Given the description of an element on the screen output the (x, y) to click on. 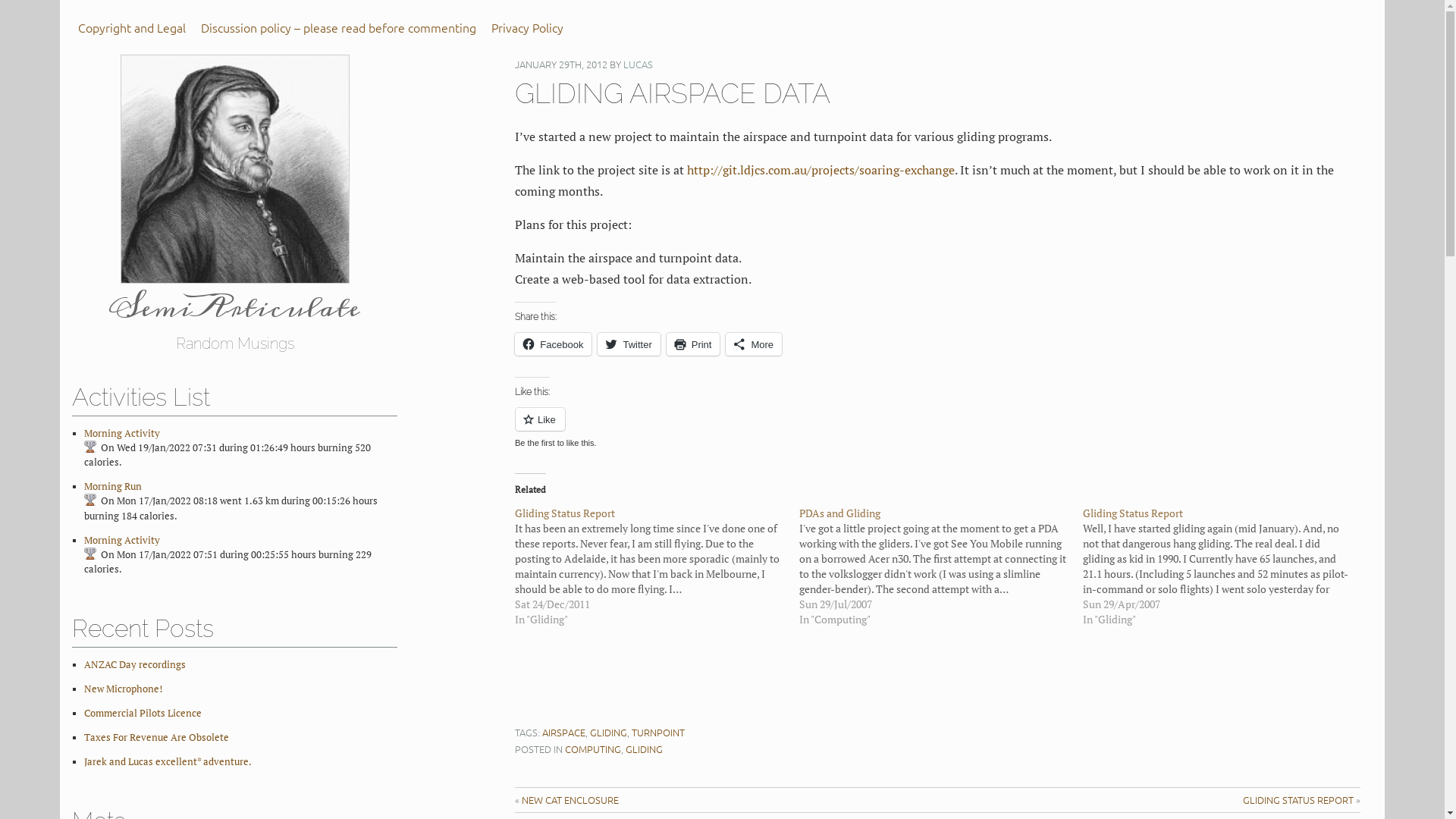
More Element type: text (753, 343)
Facebook Element type: text (552, 343)
COMPUTING Element type: text (592, 748)
TURNPOINT Element type: text (657, 731)
Taxes For Revenue Are Obsolete Element type: text (156, 737)
PDAs and Gliding Element type: text (839, 512)
AIRSPACE Element type: text (563, 731)
Advertisement Element type: hover (790, 685)
Morning Activity Element type: text (122, 432)
PDAs and Gliding Element type: hover (940, 566)
Privacy Policy Element type: text (527, 27)
Gliding Status Report Element type: hover (656, 566)
http://git.ldjcs.com.au/projects/soaring-exchange Element type: text (820, 169)
Gliding Status Report Element type: text (564, 512)
Morning Activity Element type: text (122, 539)
Gliding Status Report Element type: text (1132, 512)
Copyright and Legal Element type: text (131, 27)
Like or Reblog Element type: hover (936, 427)
GLIDING STATUS REPORT Element type: text (1297, 799)
GLIDING Element type: text (608, 731)
Twitter Element type: text (628, 343)
Jarek and Lucas excellent* adventure. Element type: text (167, 761)
Commercial Pilots Licence Element type: text (142, 712)
ANZAC Day recordings Element type: text (134, 664)
LUCAS Element type: text (637, 63)
GLIDING Element type: text (643, 748)
NEW CAT ENCLOSURE Element type: text (569, 799)
New Microphone! Element type: text (123, 688)
Morning Run Element type: text (112, 486)
Gliding Status Report Element type: hover (1224, 566)
Print Element type: text (693, 343)
